Given the description of an element on the screen output the (x, y) to click on. 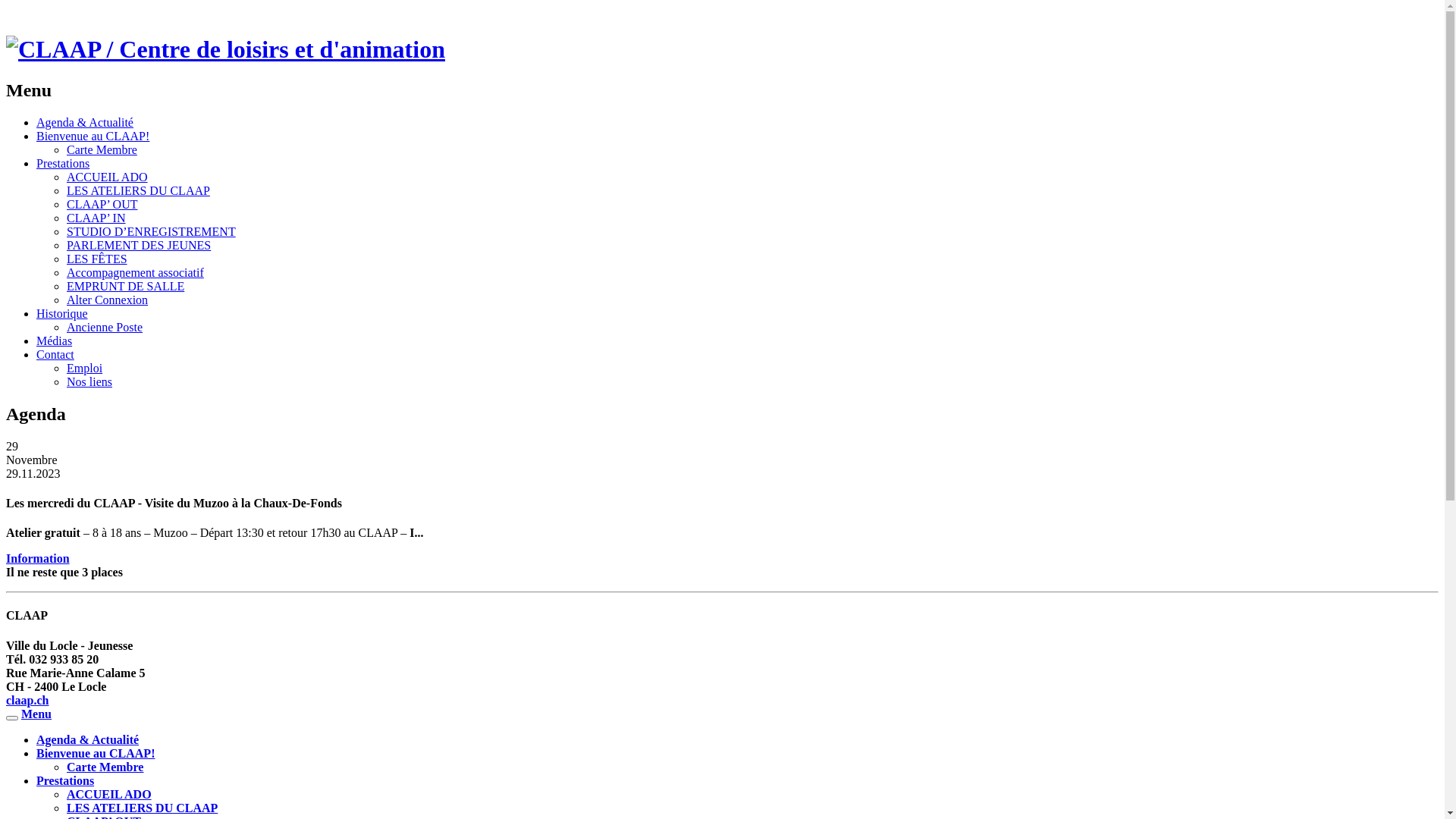
Information Element type: text (37, 558)
Alter Connexion Element type: text (106, 299)
Prestations Element type: text (62, 162)
ACCUEIL ADO Element type: text (108, 793)
EMPRUNT DE SALLE Element type: text (125, 285)
Accompagnement associatif Element type: text (134, 272)
LES ATELIERS DU CLAAP Element type: text (141, 807)
Bienvenue au CLAAP! Element type: text (95, 752)
ACCUEIL ADO Element type: text (106, 176)
Emploi Element type: text (84, 367)
Ancienne Poste Element type: text (104, 326)
Prestations Element type: text (65, 780)
Contact Element type: text (55, 354)
claap.ch Element type: text (27, 699)
Nos liens Element type: text (89, 381)
Bienvenue au CLAAP! Element type: text (92, 135)
PARLEMENT DES JEUNES Element type: text (138, 244)
Carte Membre Element type: text (104, 766)
Historique Element type: text (61, 313)
Menu Element type: text (36, 713)
LES ATELIERS DU CLAAP Element type: text (138, 190)
CLAAP - Centre de loisires et d'animation Element type: hover (225, 48)
Carte Membre Element type: text (101, 149)
